Given the description of an element on the screen output the (x, y) to click on. 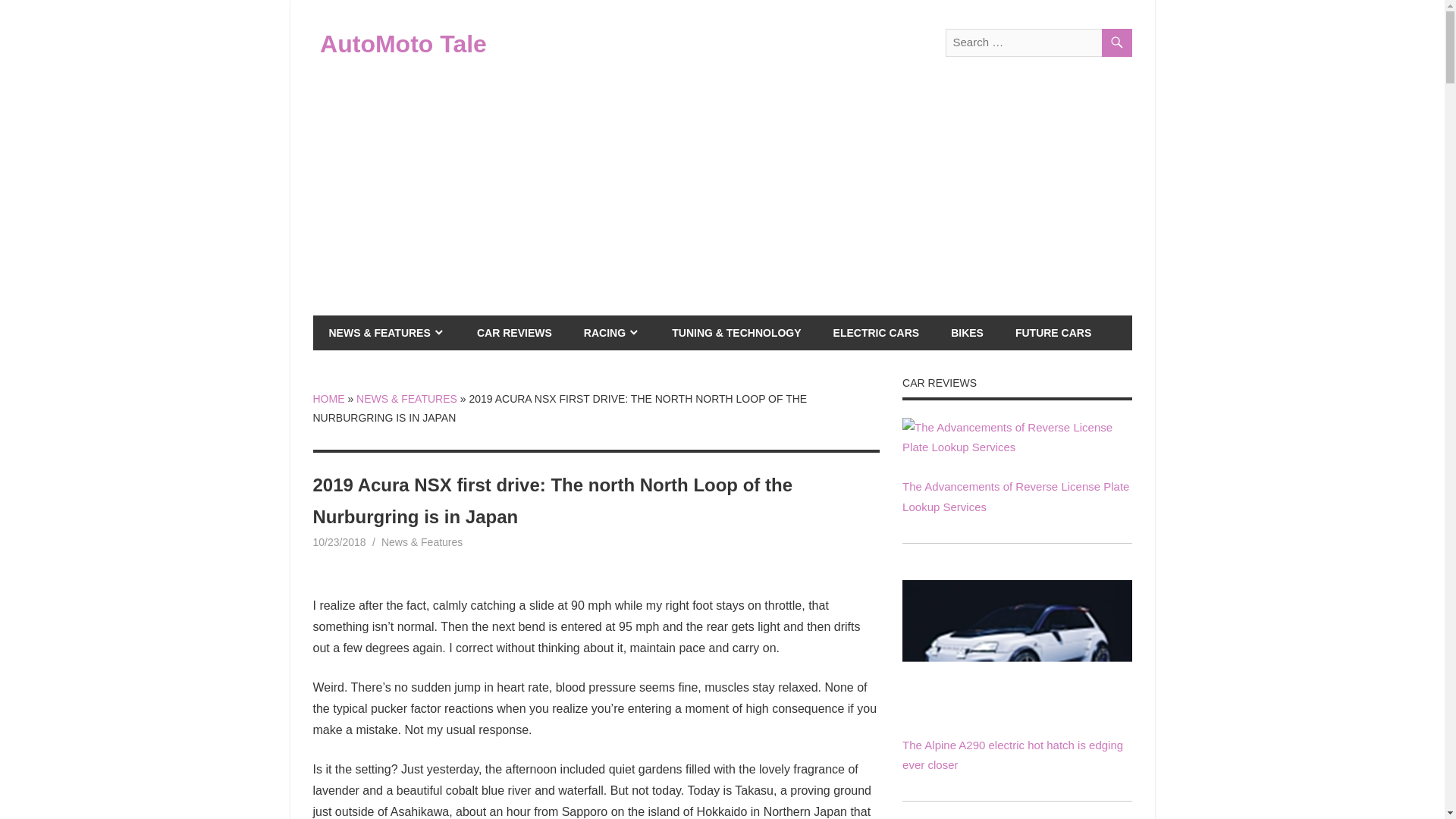
HOME (328, 398)
mediabest (403, 541)
Search for: (1037, 42)
The Alpine A290 electric hot hatch is edging ever closer (1016, 705)
The Alpine A290 electric hot hatch is edging ever closer (1016, 644)
The Advancements of Reverse License Plate Lookup Services (1015, 495)
RACING (611, 332)
BIKES (966, 332)
FUTURE CARS (1052, 332)
